Given the description of an element on the screen output the (x, y) to click on. 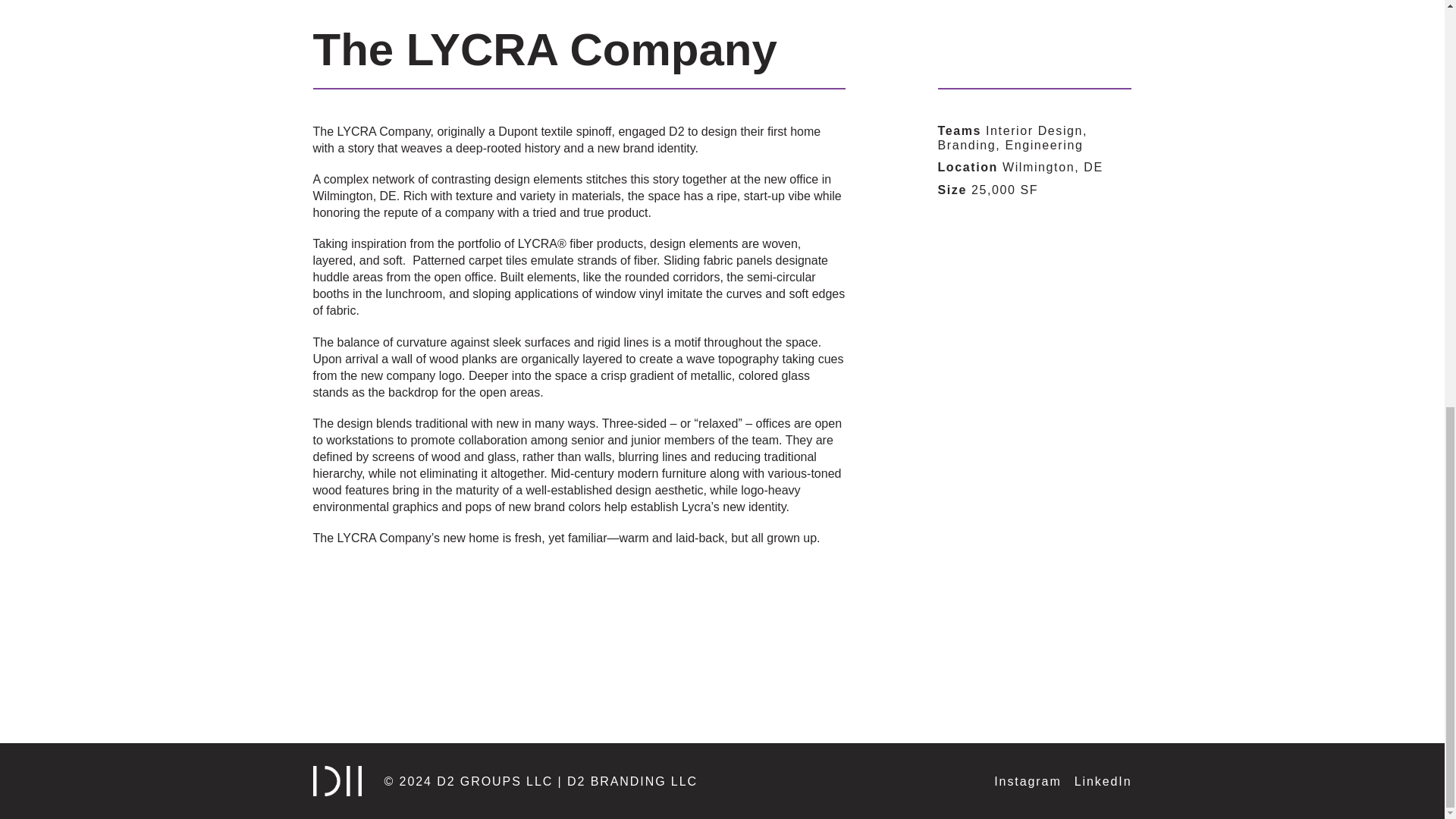
LinkedIn (1103, 780)
Instagram (1027, 780)
